Given the description of an element on the screen output the (x, y) to click on. 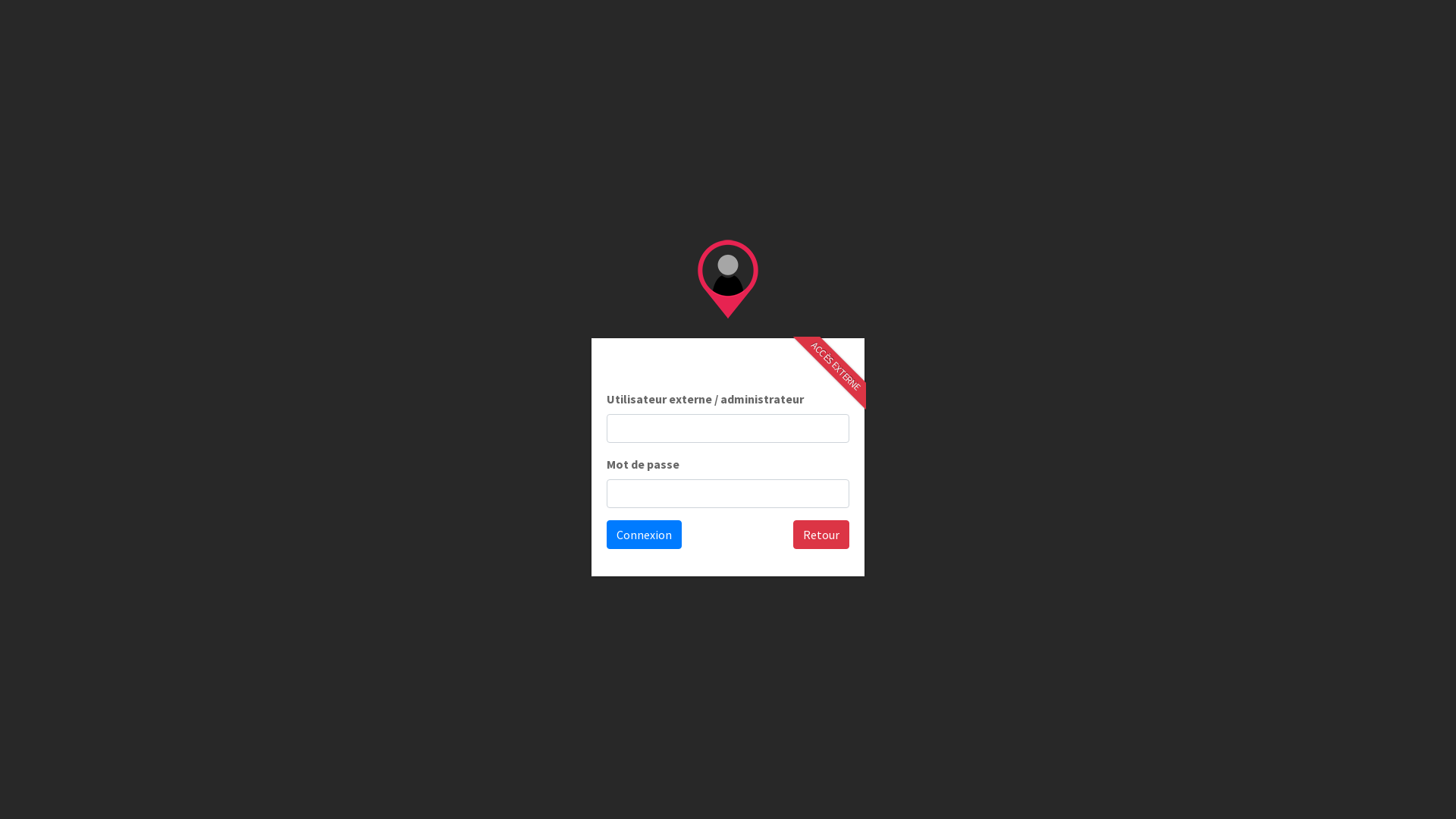
Connexion Element type: text (643, 534)
Retour Element type: text (821, 534)
